Given the description of an element on the screen output the (x, y) to click on. 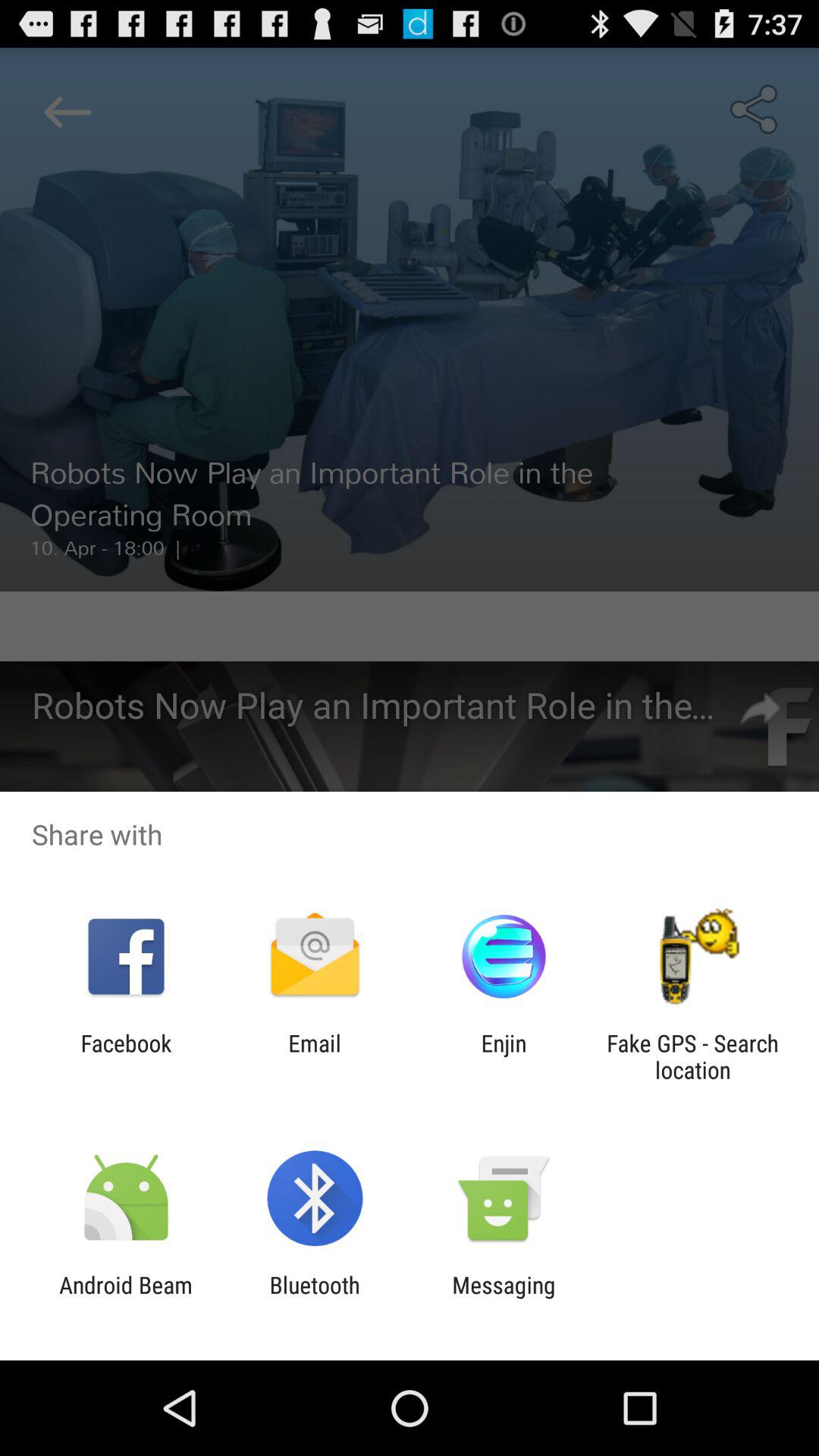
tap the item to the right of the facebook (314, 1056)
